Given the description of an element on the screen output the (x, y) to click on. 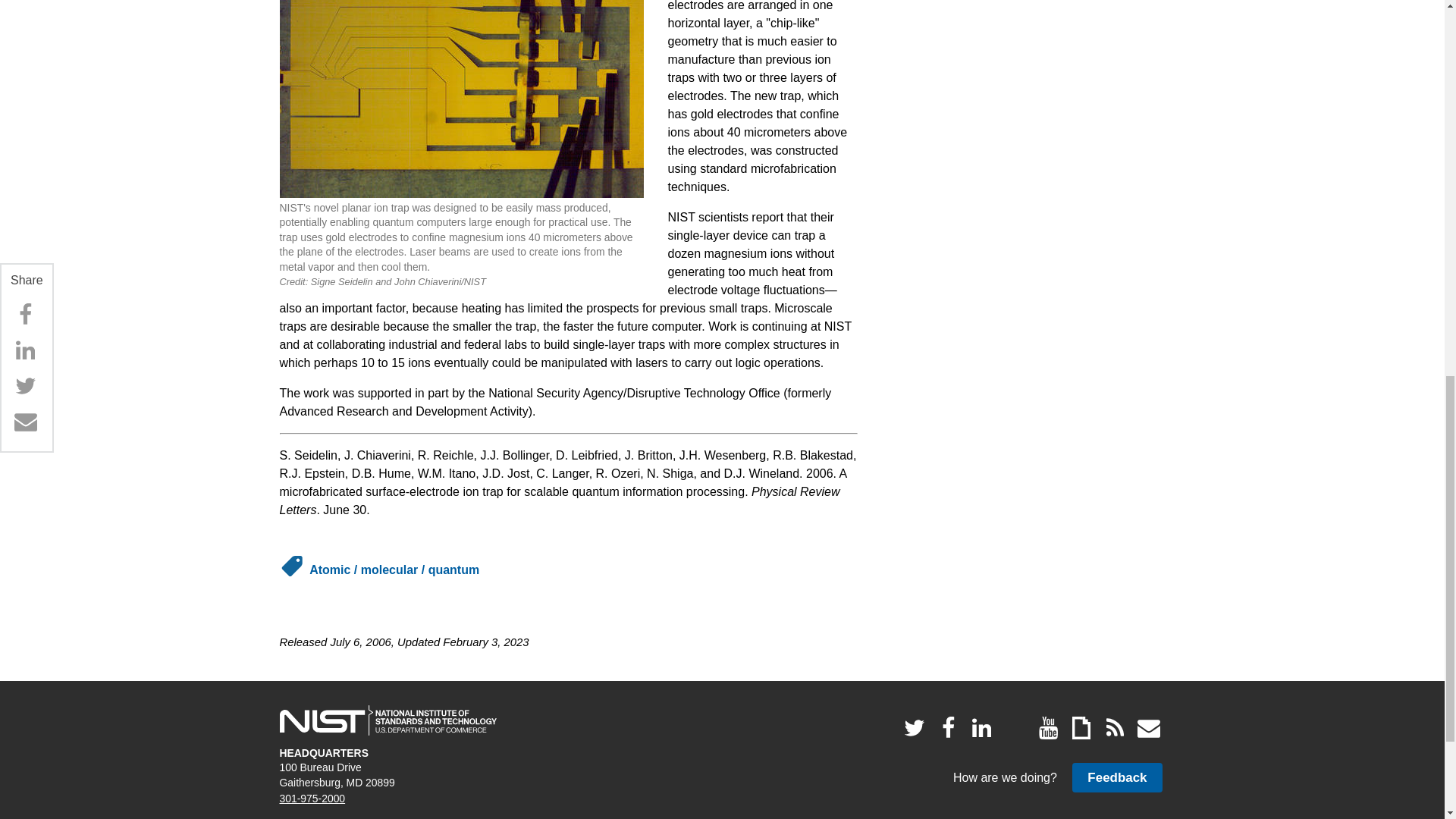
National Institute of Standards and Technology (387, 720)
301-975-2000 (312, 798)
Provide feedback (1116, 777)
